Given the description of an element on the screen output the (x, y) to click on. 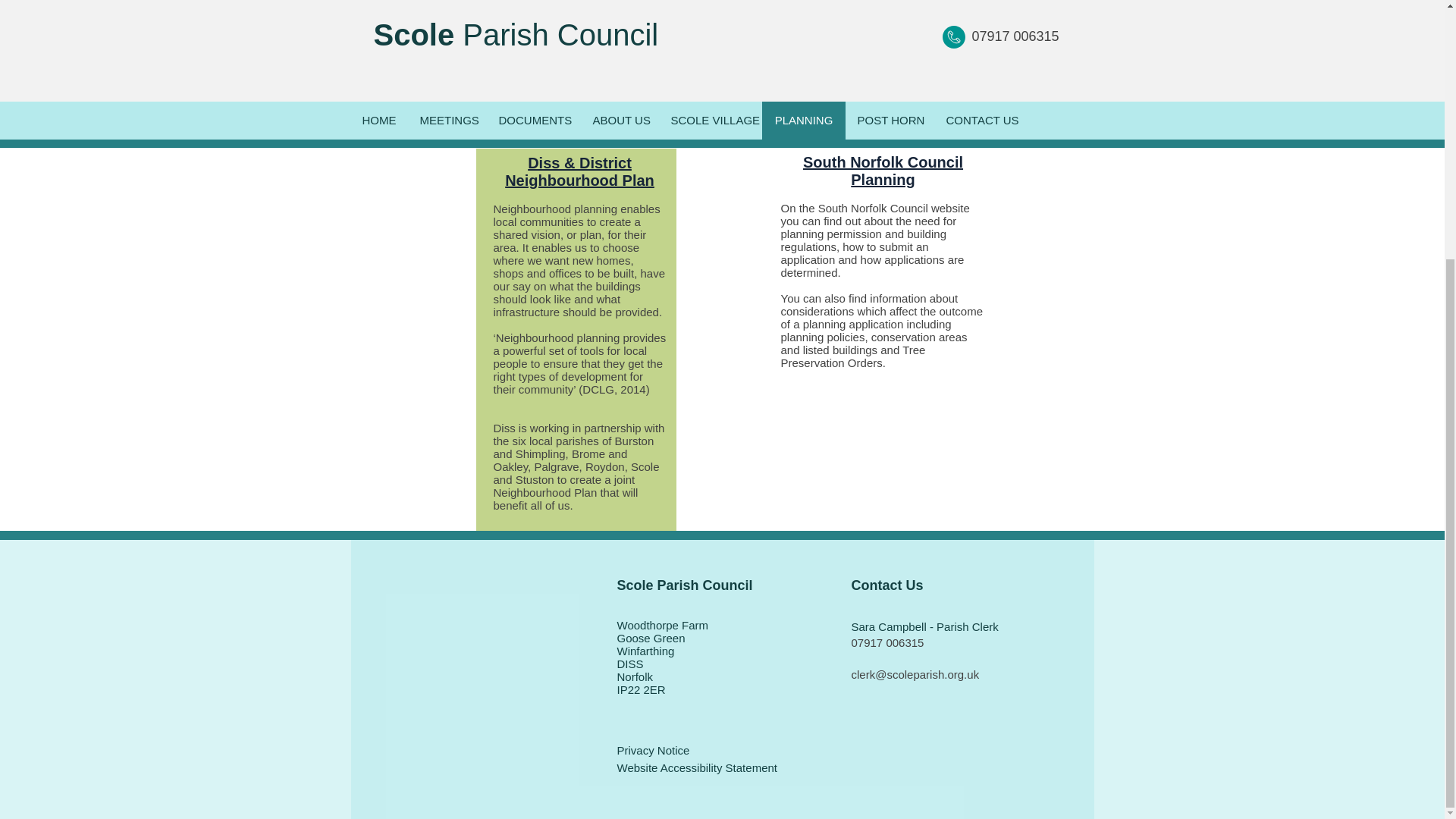
Privacy Notice (653, 749)
Google Maps (483, 684)
Cookie Alert (670, 790)
Website Accessibility Statement (697, 767)
South Norfolk Council Planning (882, 170)
